Given the description of an element on the screen output the (x, y) to click on. 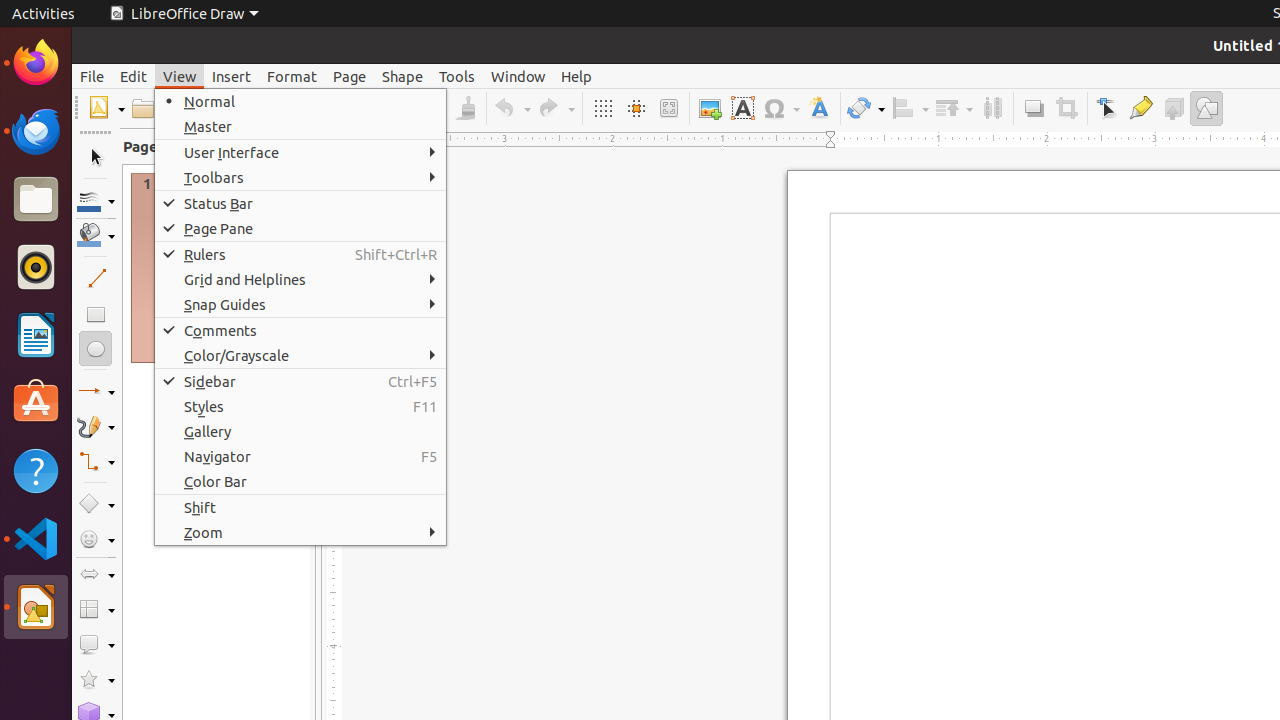
Toggle Extrusion Element type: push-button (1173, 108)
User Interface Element type: menu (300, 152)
Color/Grayscale Element type: menu (300, 355)
Toolbars Element type: menu (300, 177)
Arrange Element type: push-button (954, 108)
